Given the description of an element on the screen output the (x, y) to click on. 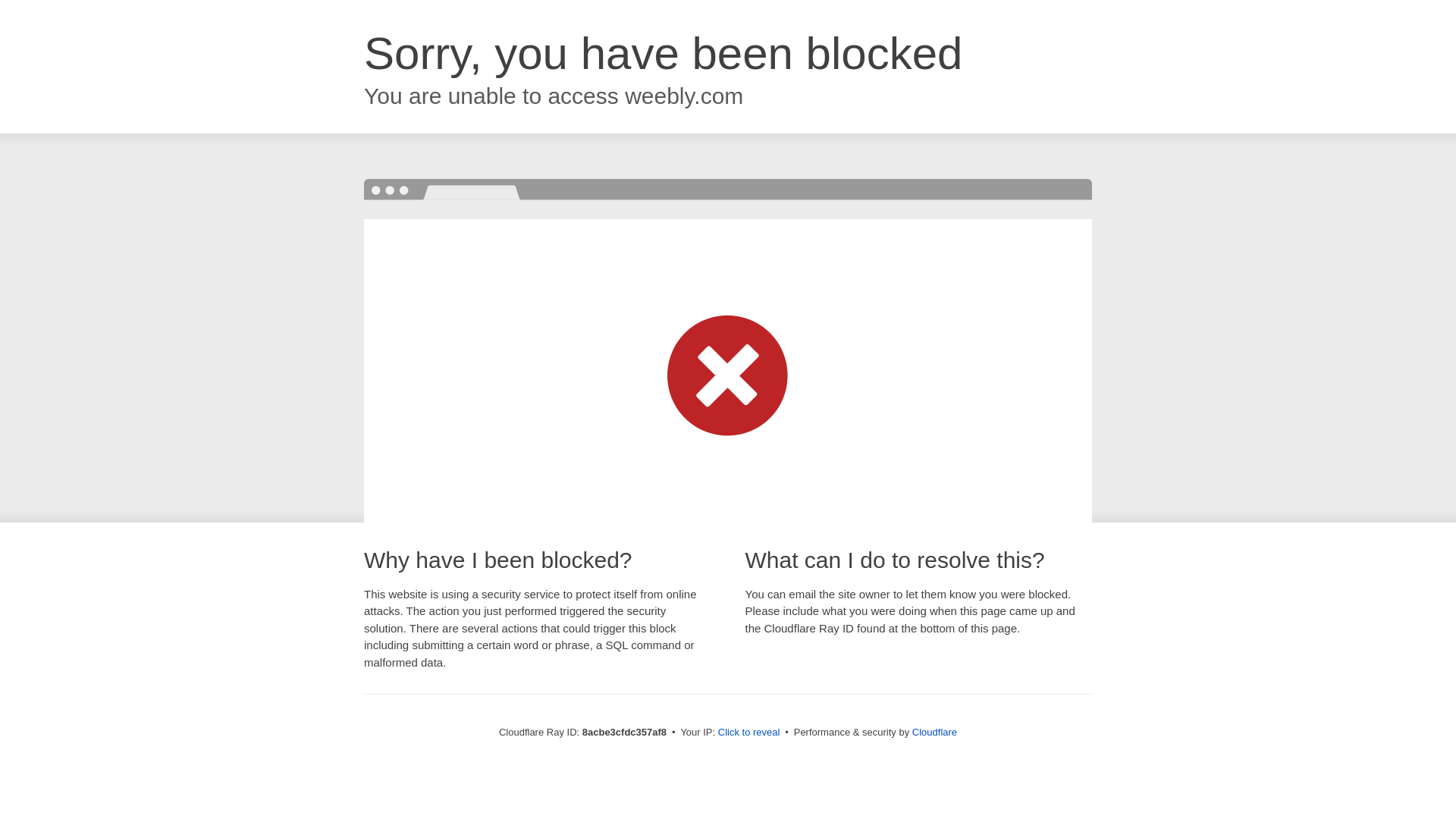
Click to reveal (748, 732)
Cloudflare (934, 731)
